Given the description of an element on the screen output the (x, y) to click on. 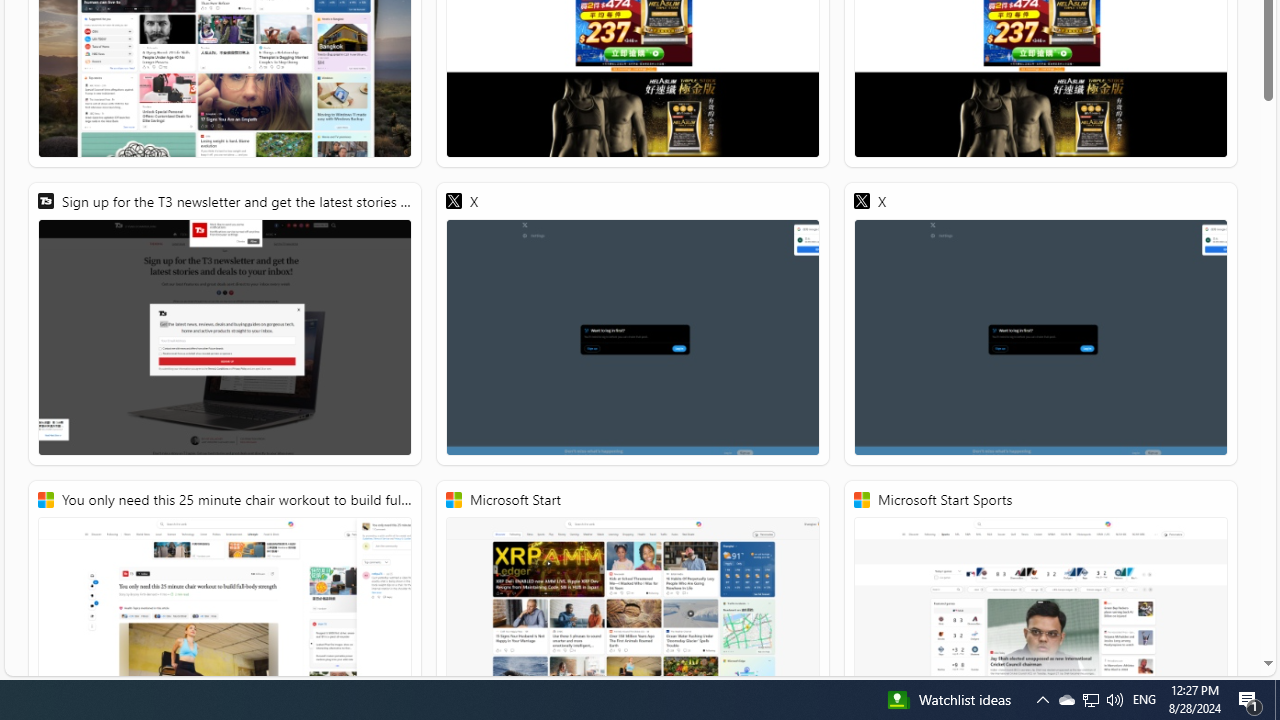
X (1040, 323)
